Given the description of an element on the screen output the (x, y) to click on. 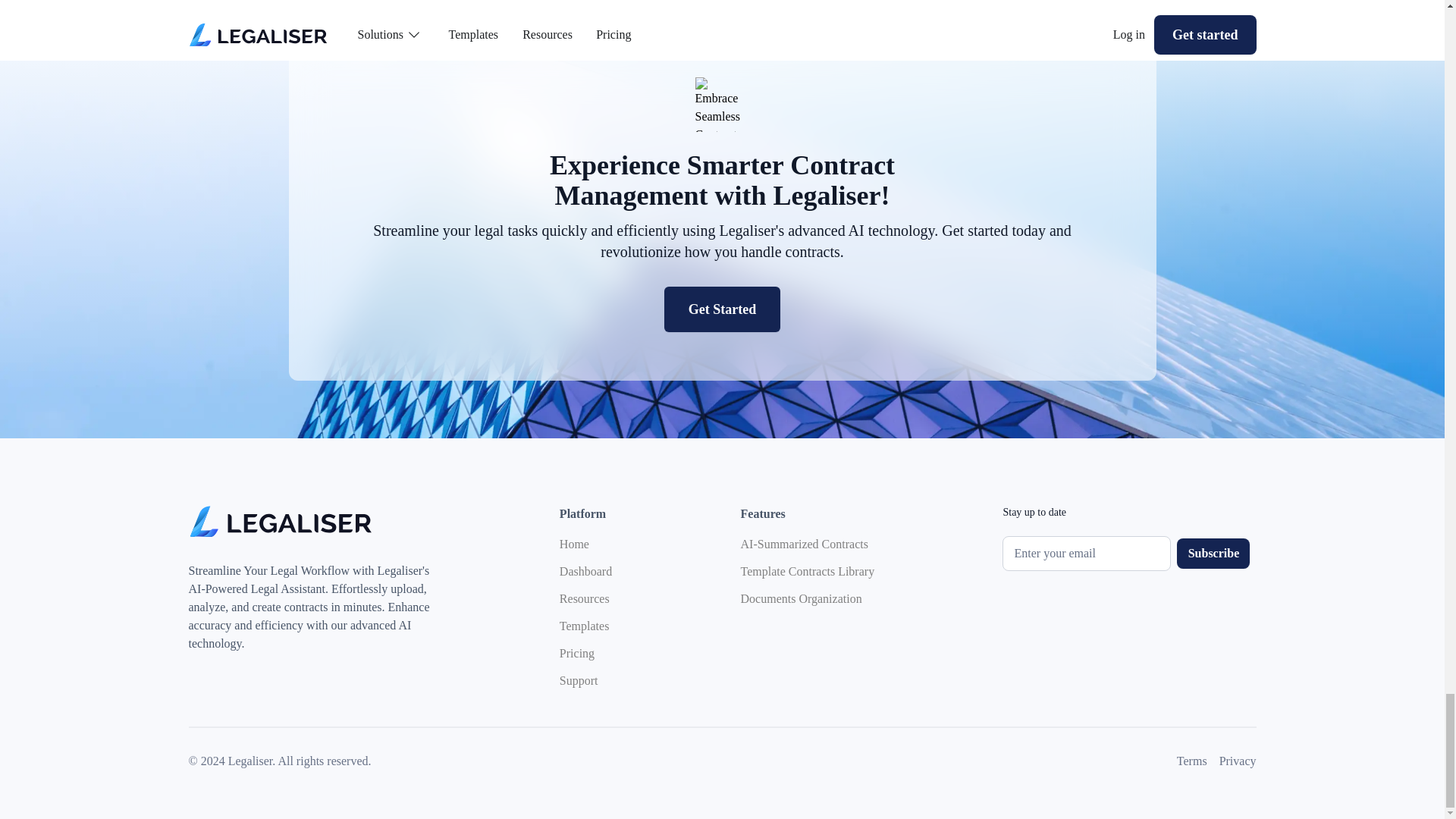
Get Started (721, 309)
